Given the description of an element on the screen output the (x, y) to click on. 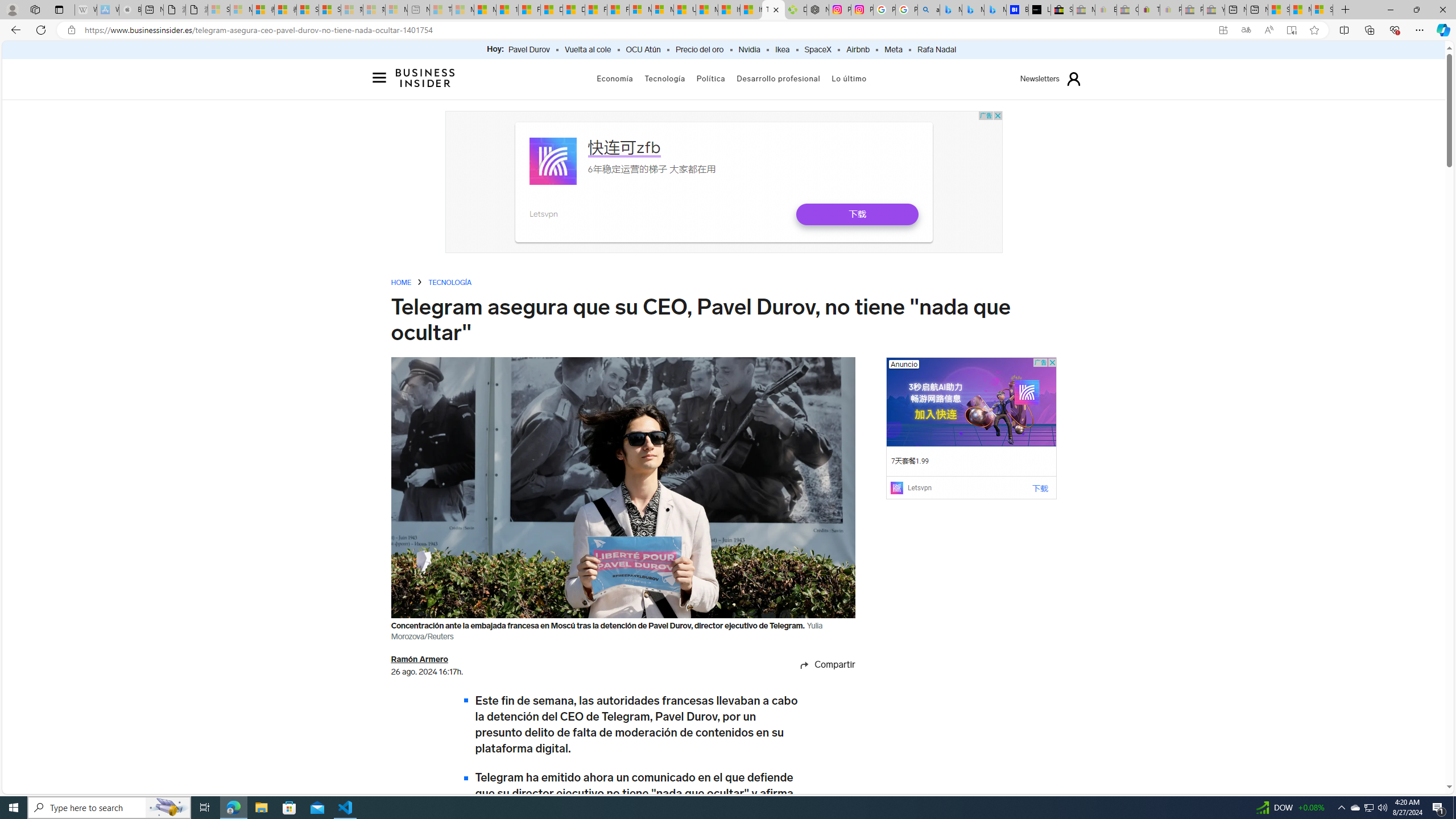
Drinking tea every day is proven to delay biological aging (573, 9)
Logo BusinessInsider.es (425, 78)
Top Stories - MSN - Sleeping (441, 9)
Desarrollo profesional (778, 78)
Logo BusinessInsider.es (425, 76)
Food and Drink - MSN (529, 9)
Vuelta al cole (587, 49)
Nvidia (749, 49)
